Given the description of an element on the screen output the (x, y) to click on. 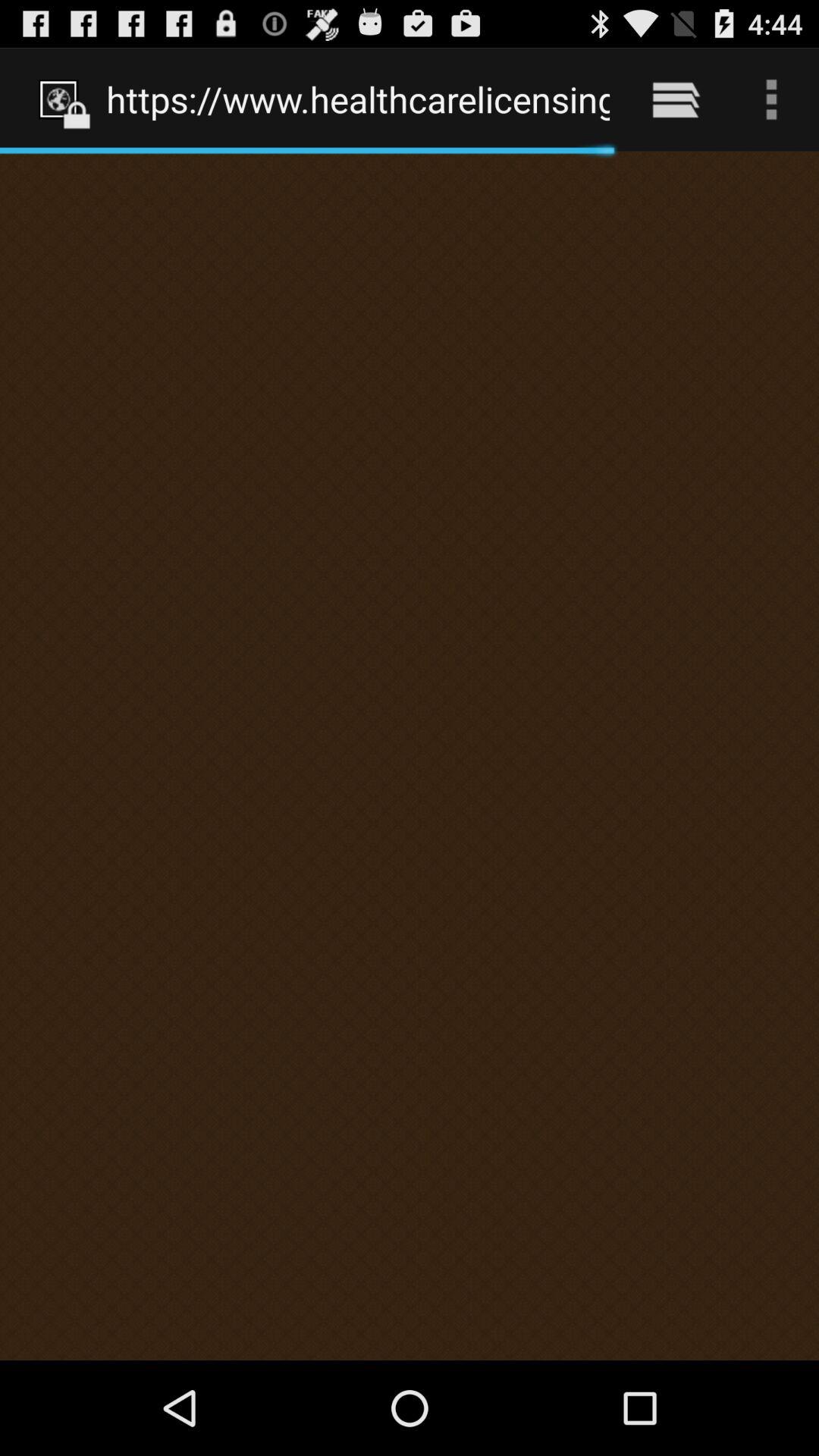
click icon at the center (409, 755)
